Given the description of an element on the screen output the (x, y) to click on. 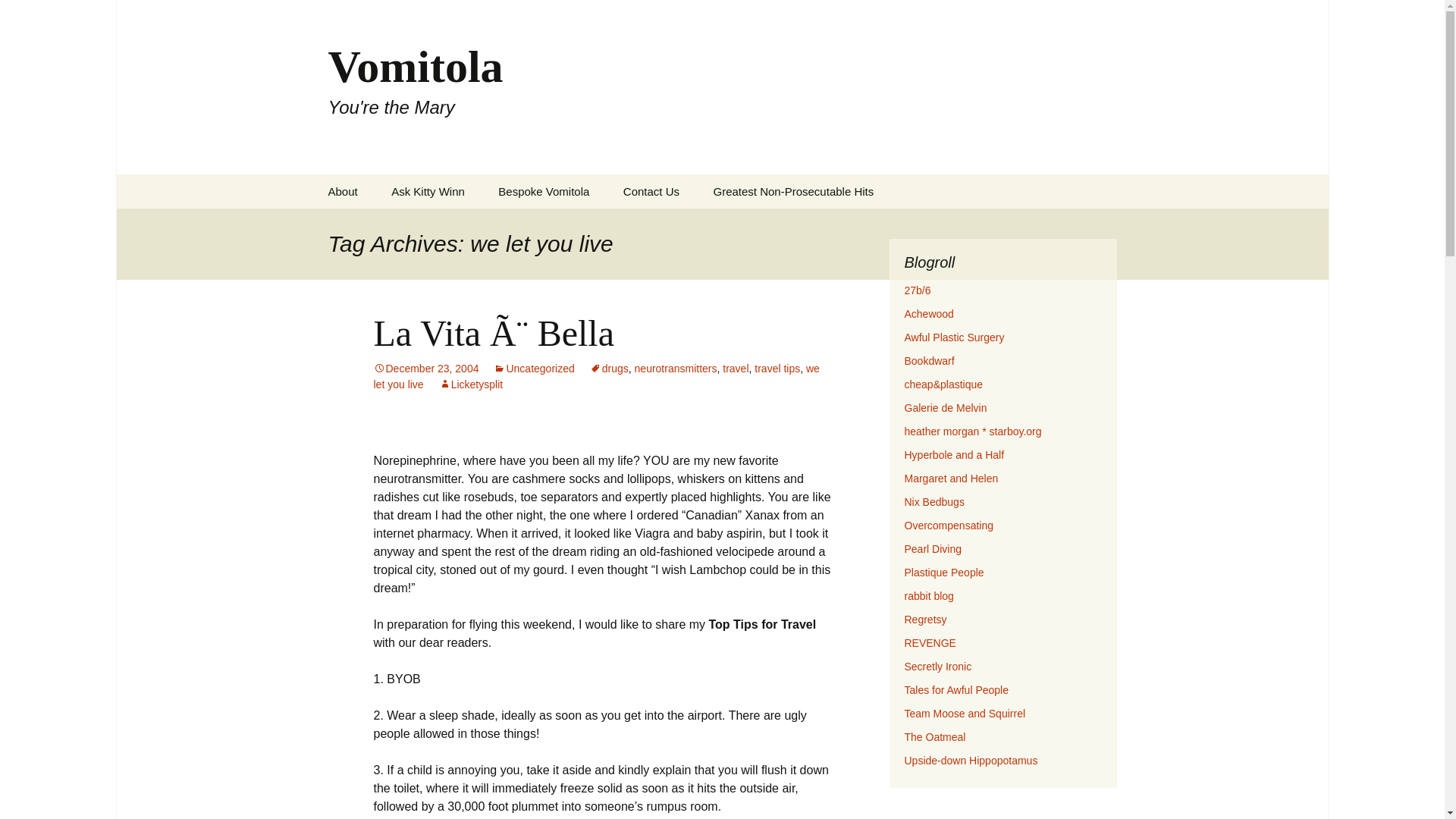
Bespoke Vomitola (543, 191)
travel tips (776, 368)
neurotransmitters (675, 368)
drugs (608, 368)
travel (735, 368)
Ask Kitty Winn (427, 191)
Melvin, a beagle who speaks French (945, 408)
Uncategorized (533, 368)
